Given the description of an element on the screen output the (x, y) to click on. 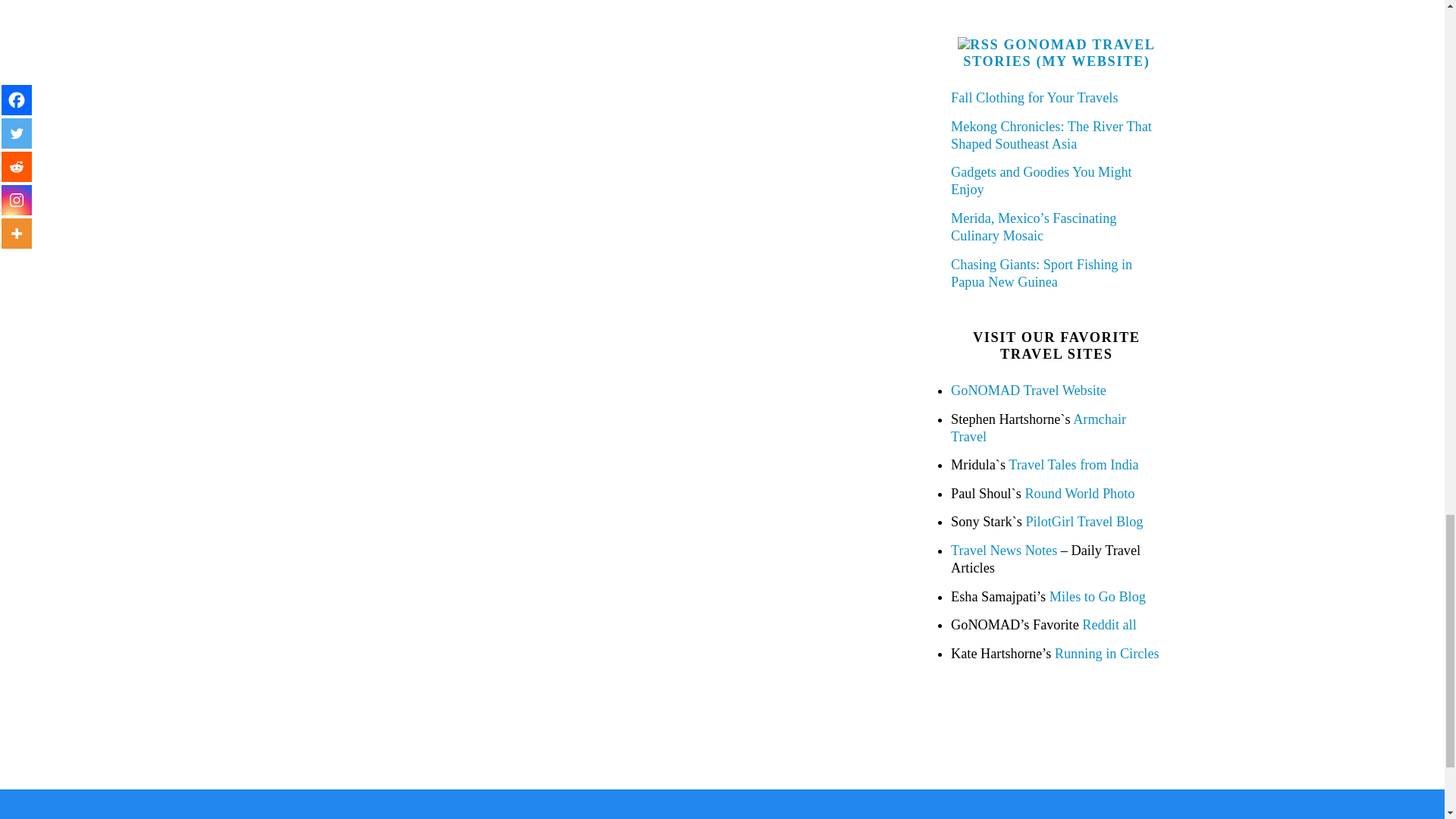
Mekong Chronicles: The River That Shaped Southeast Asia (1050, 134)
Fall Clothing for Your Travels (1034, 97)
Gadgets and Goodies You Might Enjoy (1041, 180)
